Given the description of an element on the screen output the (x, y) to click on. 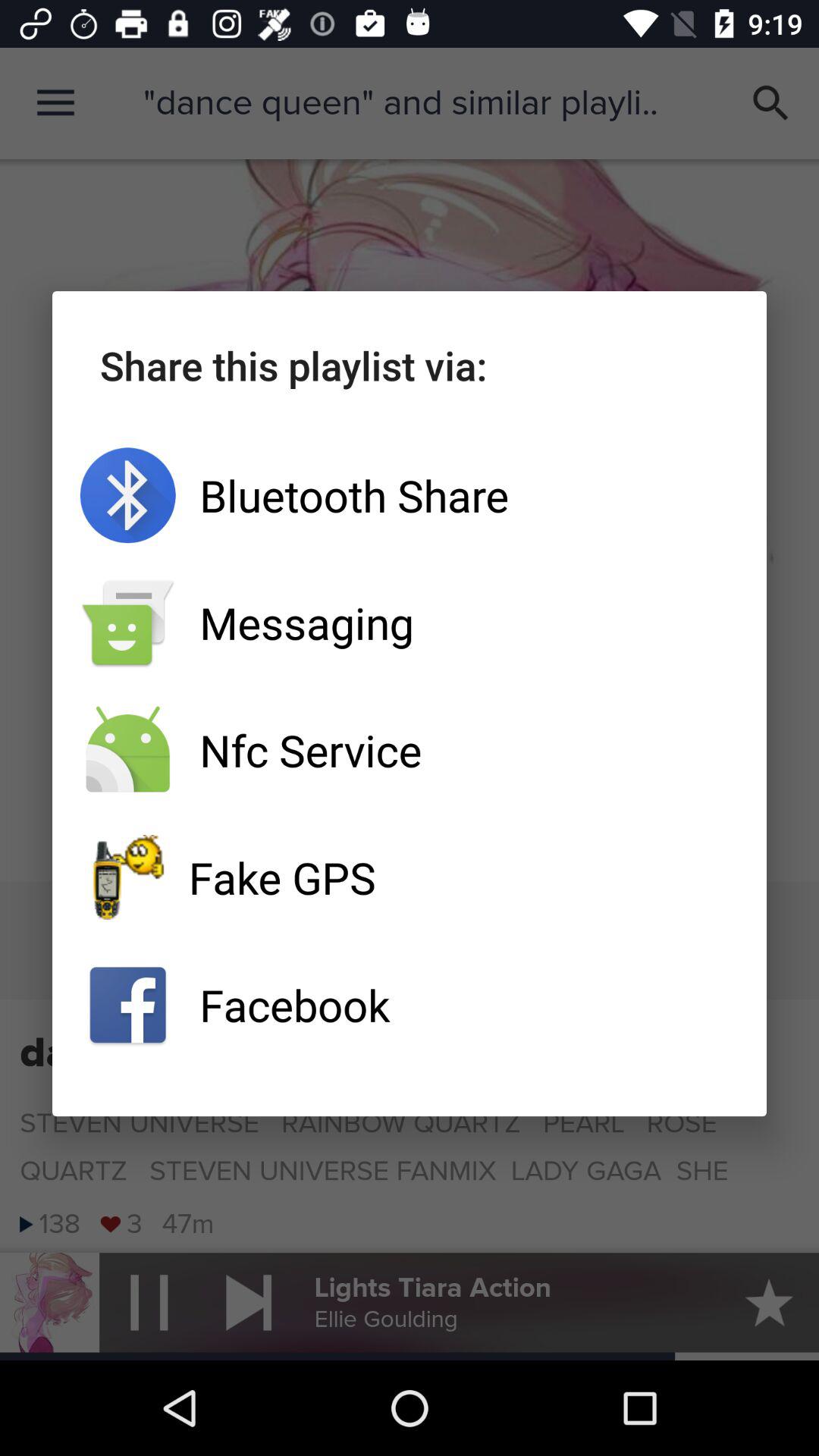
launch the app below the fake gps icon (409, 1004)
